Given the description of an element on the screen output the (x, y) to click on. 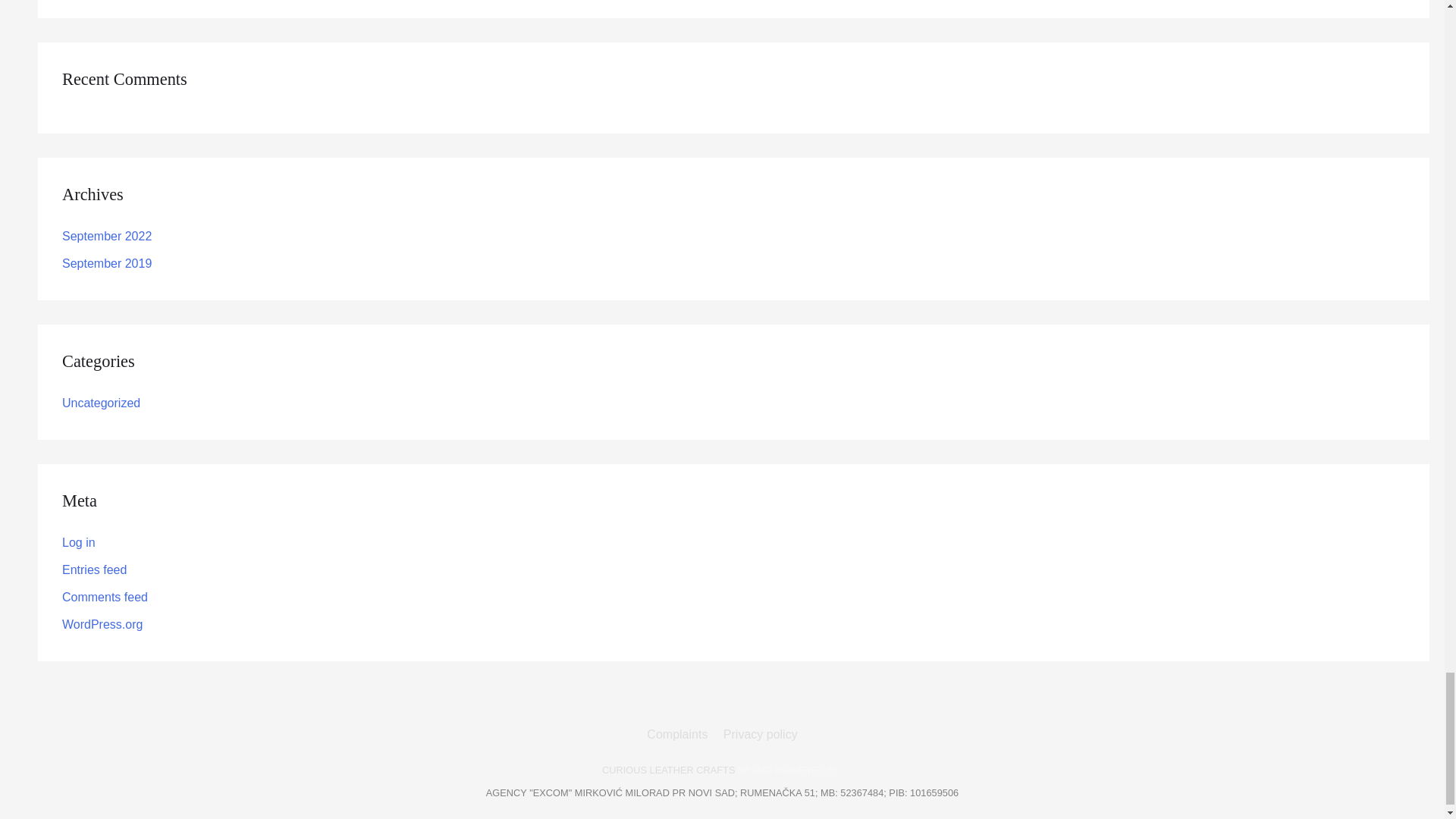
Entries feed (94, 569)
CURIOUS LEATHER CRAFTS (668, 769)
WordPress.org (102, 624)
September 2019 (106, 263)
Uncategorized (100, 402)
Comments feed (105, 596)
Complaints (679, 734)
Log in (79, 542)
September 2022 (106, 236)
Privacy policy (757, 734)
